Given the description of an element on the screen output the (x, y) to click on. 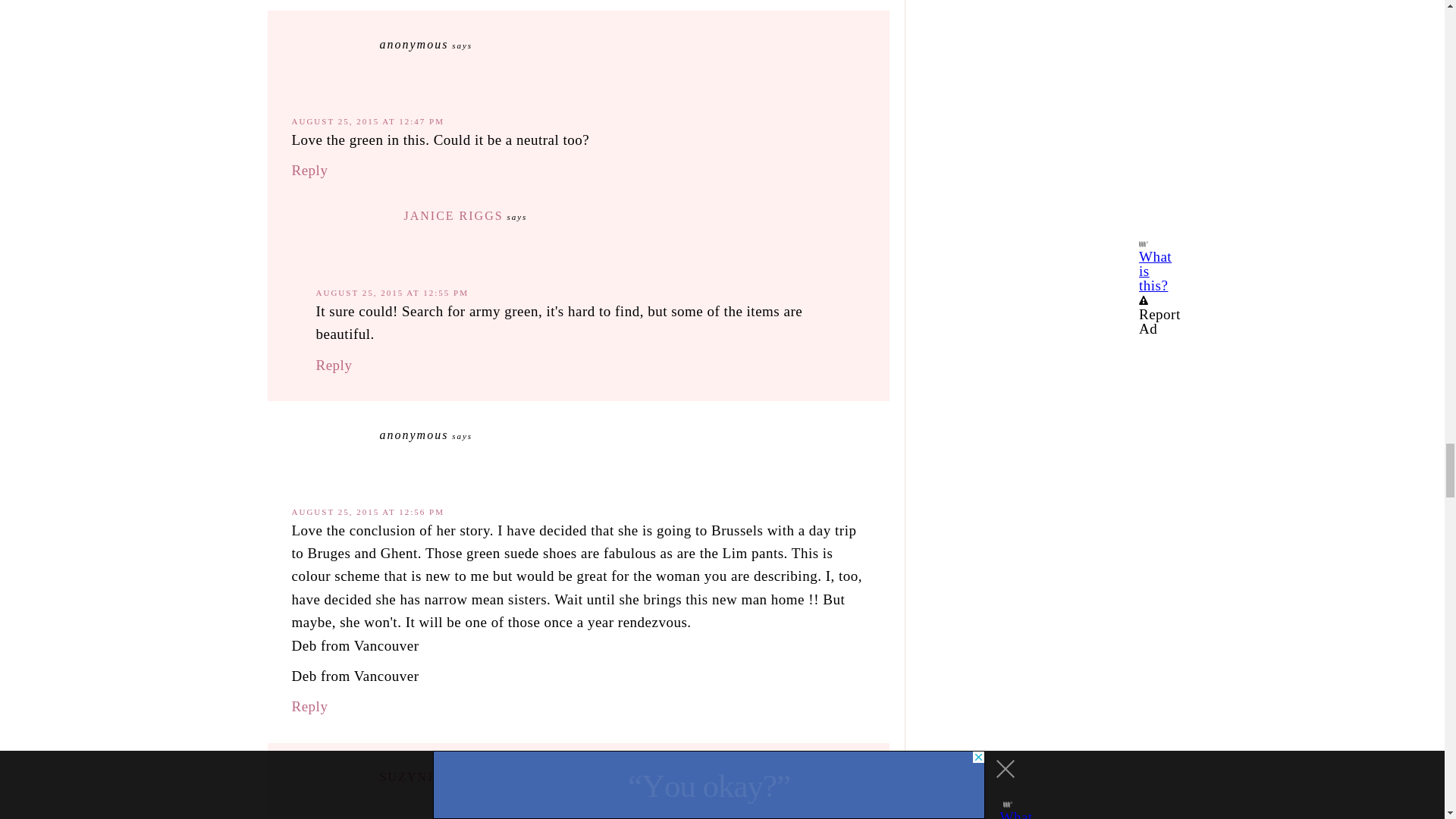
AUGUST 25, 2015 AT 12:47 PM (367, 121)
Reply (309, 170)
